Given the description of an element on the screen output the (x, y) to click on. 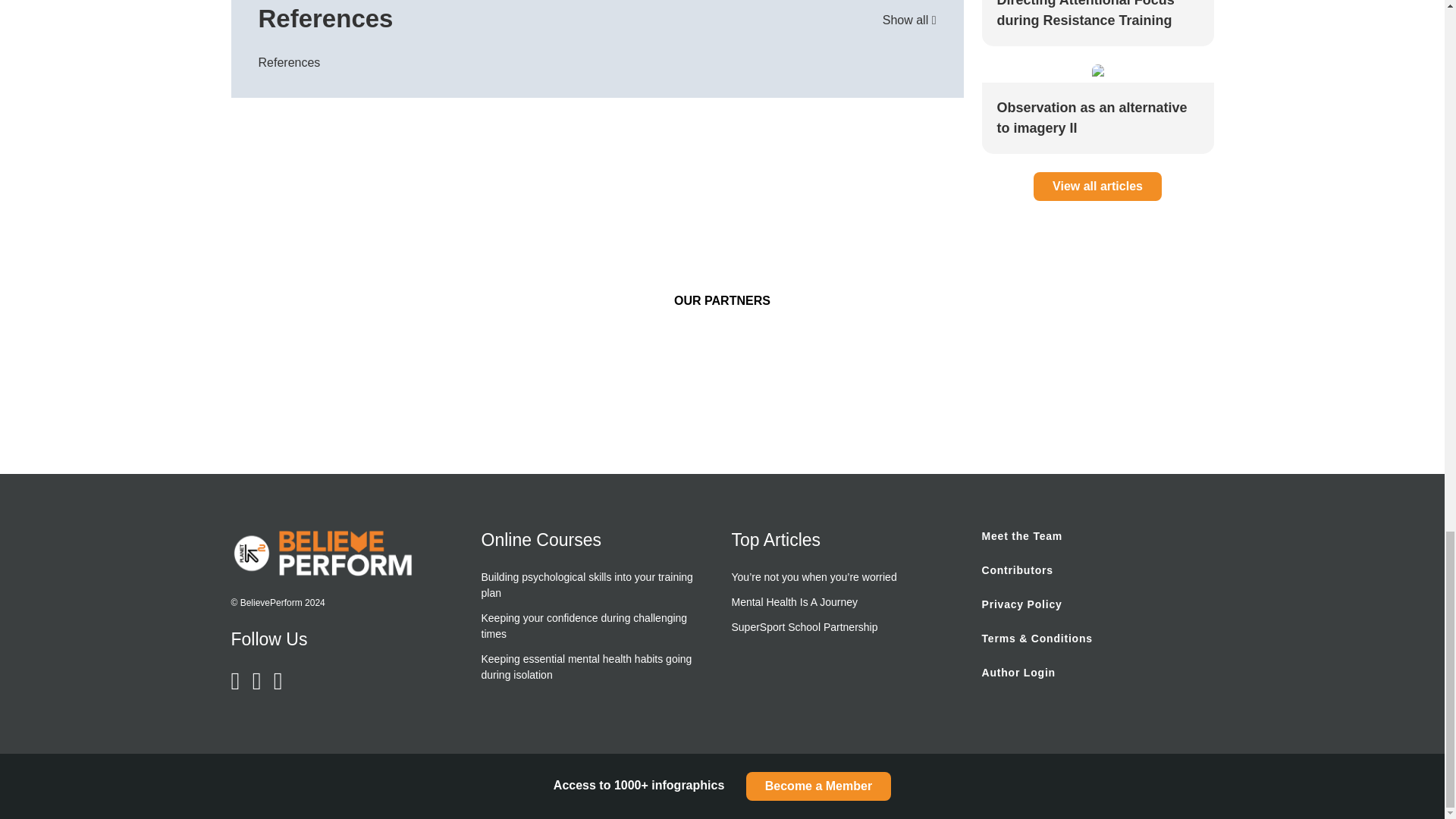
Directing Attentional Focus during Resistance Training (1096, 15)
View all articles (1097, 185)
Observation as an alternative to imagery II (1096, 117)
